Given the description of an element on the screen output the (x, y) to click on. 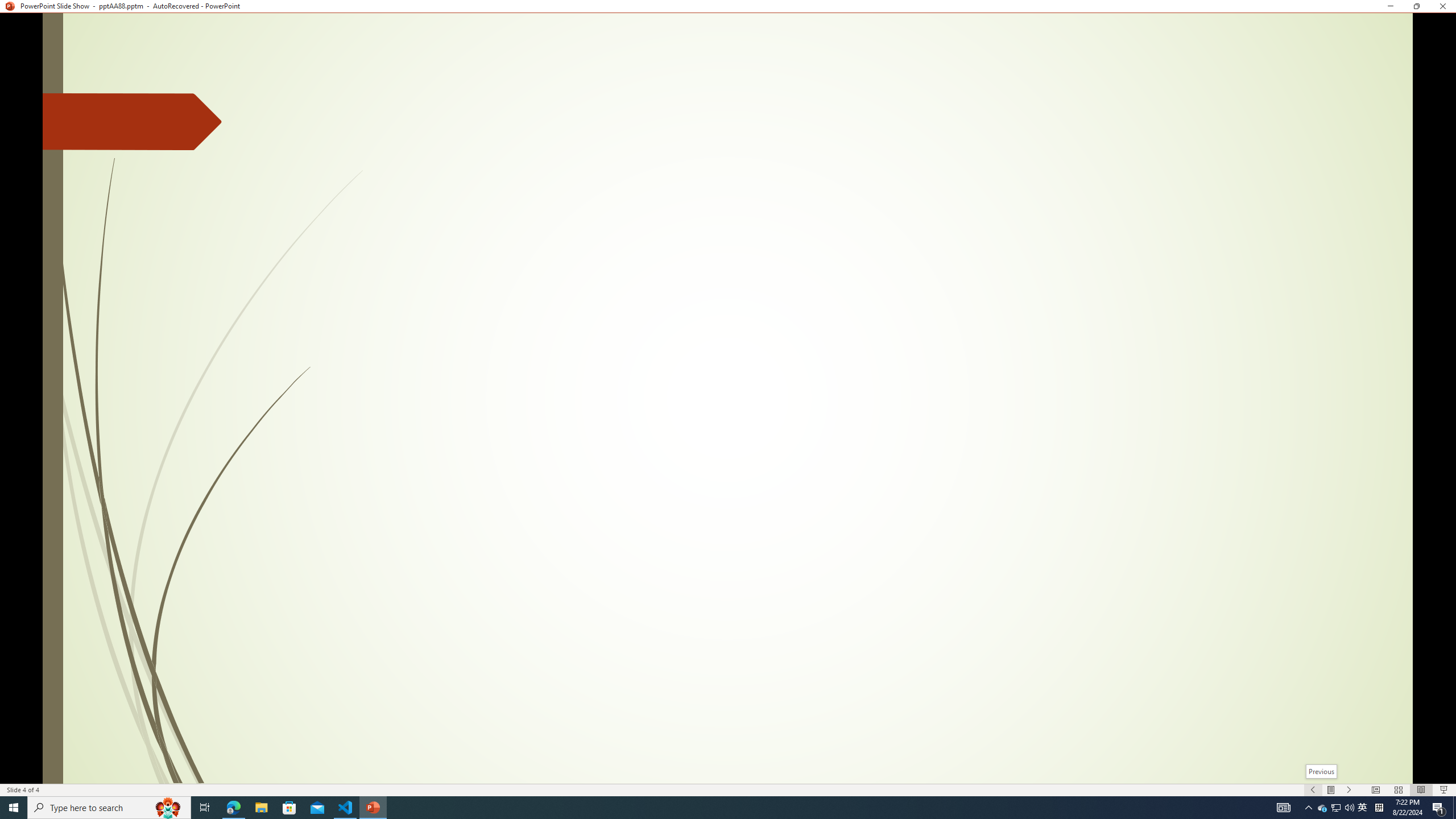
Menu On (1331, 790)
Slide Show Previous On (1313, 790)
Slide Show Next On (1349, 790)
